Given the description of an element on the screen output the (x, y) to click on. 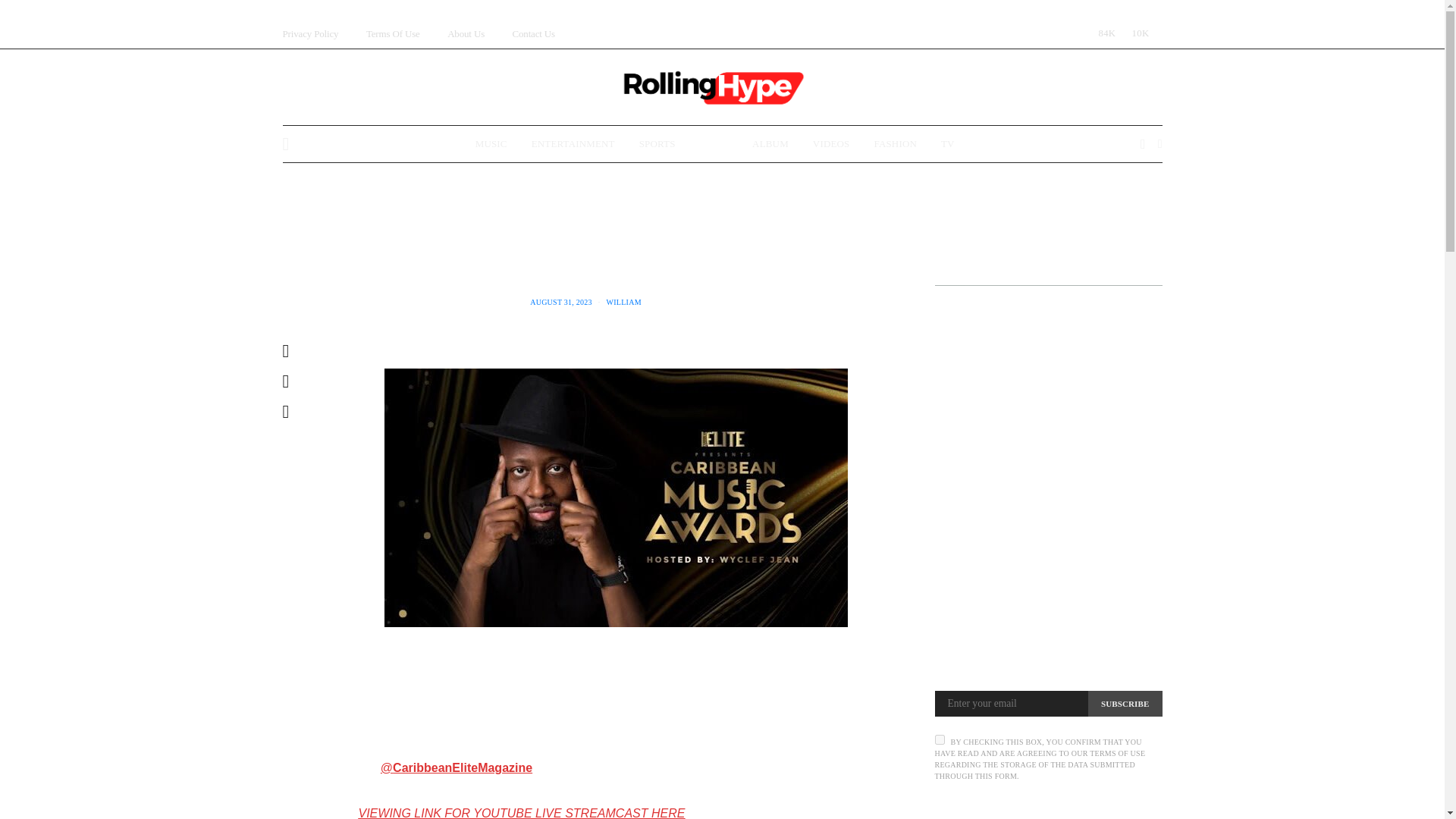
SPORTS (657, 144)
About Us (465, 33)
ALBUM (770, 144)
on (938, 739)
Terms Of Use (393, 33)
84K (1103, 33)
View all posts by William (624, 302)
VIDEOS (831, 144)
ENTERTAINMENT (572, 144)
10K (1137, 33)
